Given the description of an element on the screen output the (x, y) to click on. 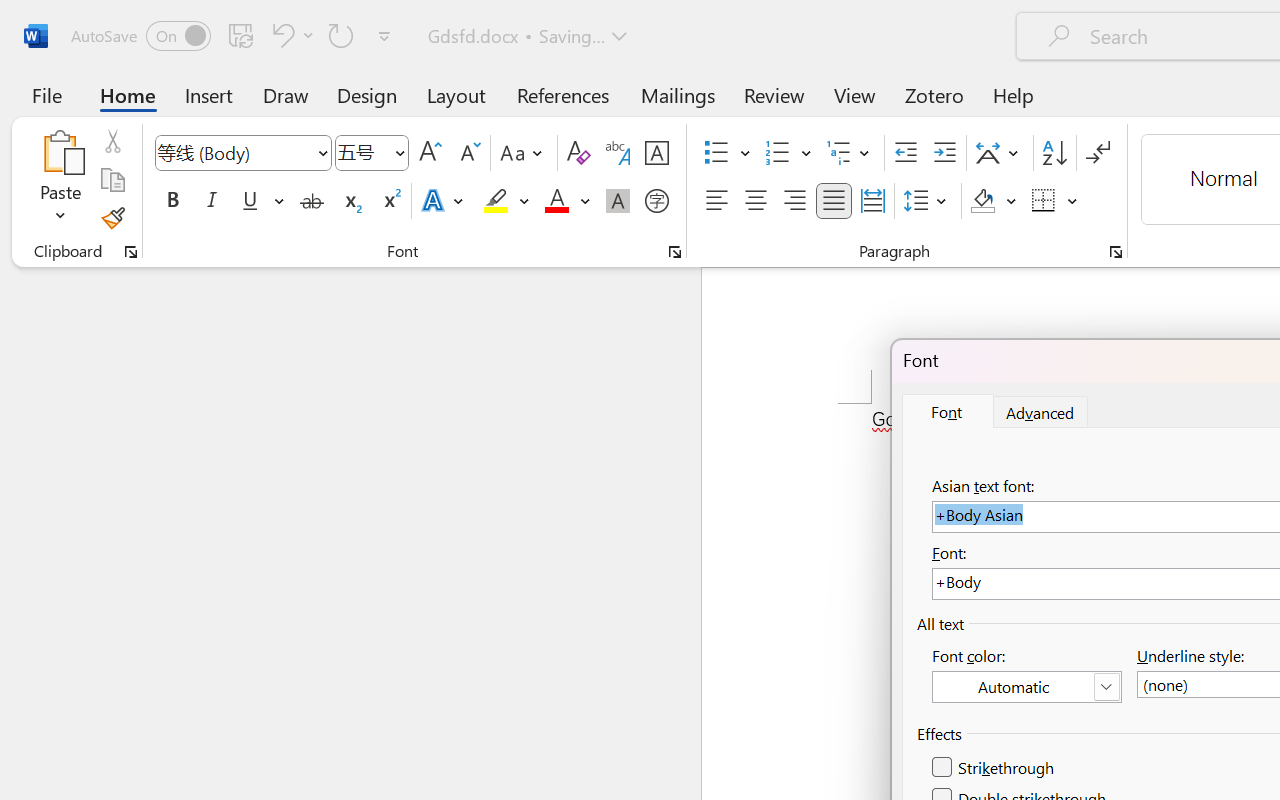
Change Case (524, 153)
Cut (112, 141)
Character Shading (618, 201)
Distributed (872, 201)
Office Clipboard... (131, 252)
Font Color (567, 201)
